Given the description of an element on the screen output the (x, y) to click on. 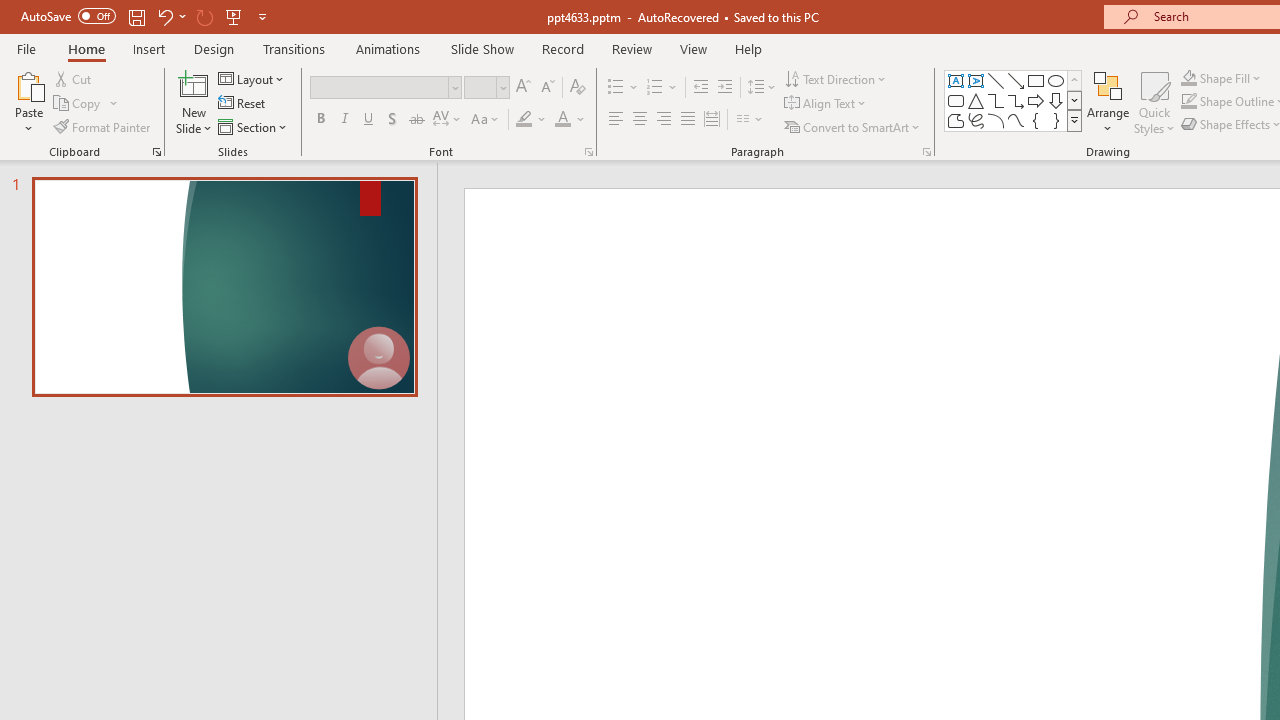
Convert to SmartArt (853, 126)
Columns (750, 119)
Isosceles Triangle (975, 100)
Format Painter (103, 126)
Left Brace (1035, 120)
Layout (252, 78)
Text Box (955, 80)
Arc (995, 120)
Decrease Font Size (547, 87)
Quick Styles (1154, 102)
Office Clipboard... (156, 151)
